Given the description of an element on the screen output the (x, y) to click on. 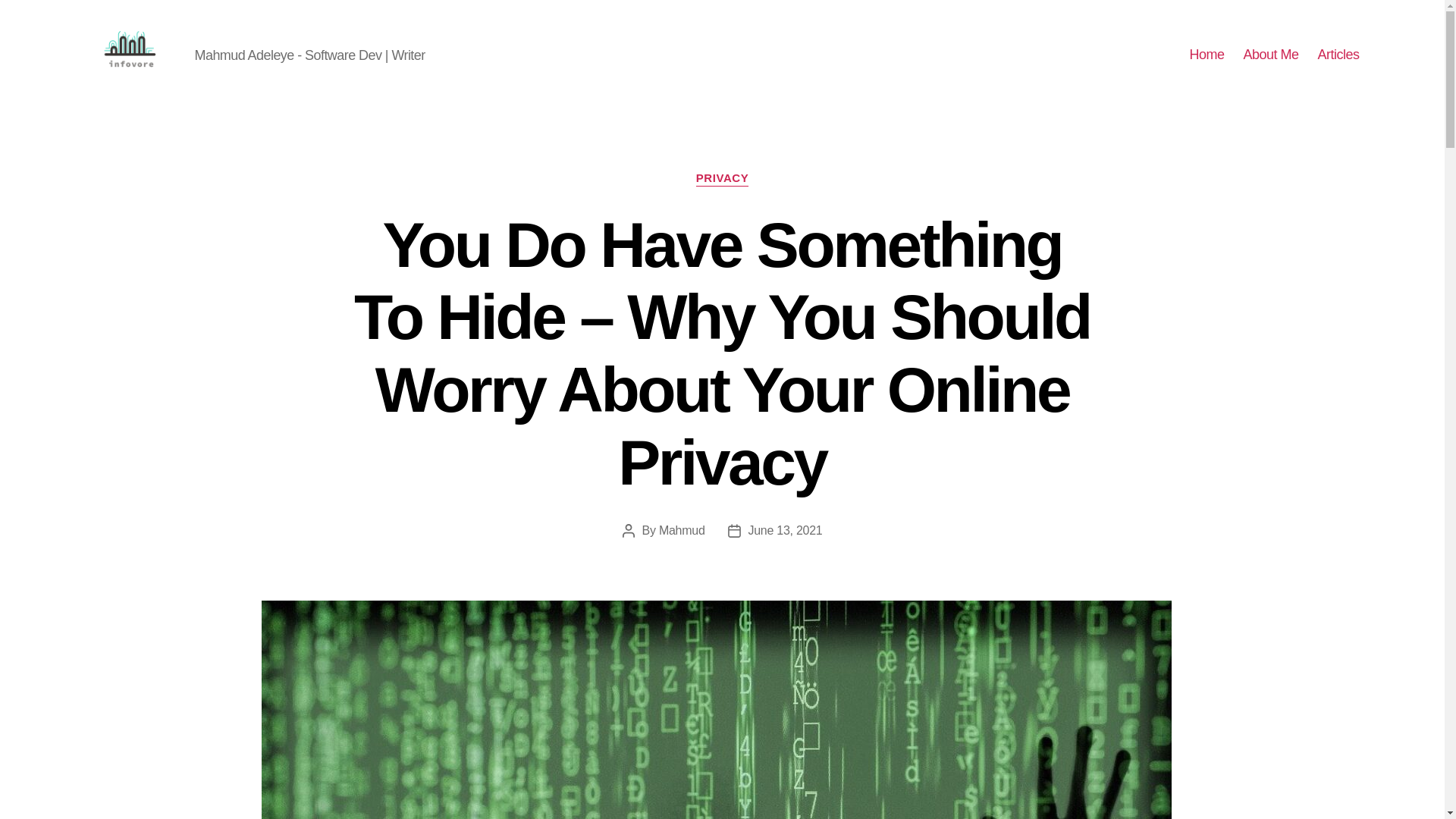
PRIVACY (721, 178)
June 13, 2021 (785, 530)
Home (1206, 54)
About Me (1270, 54)
Articles (1337, 54)
Mahmud (681, 530)
